Given the description of an element on the screen output the (x, y) to click on. 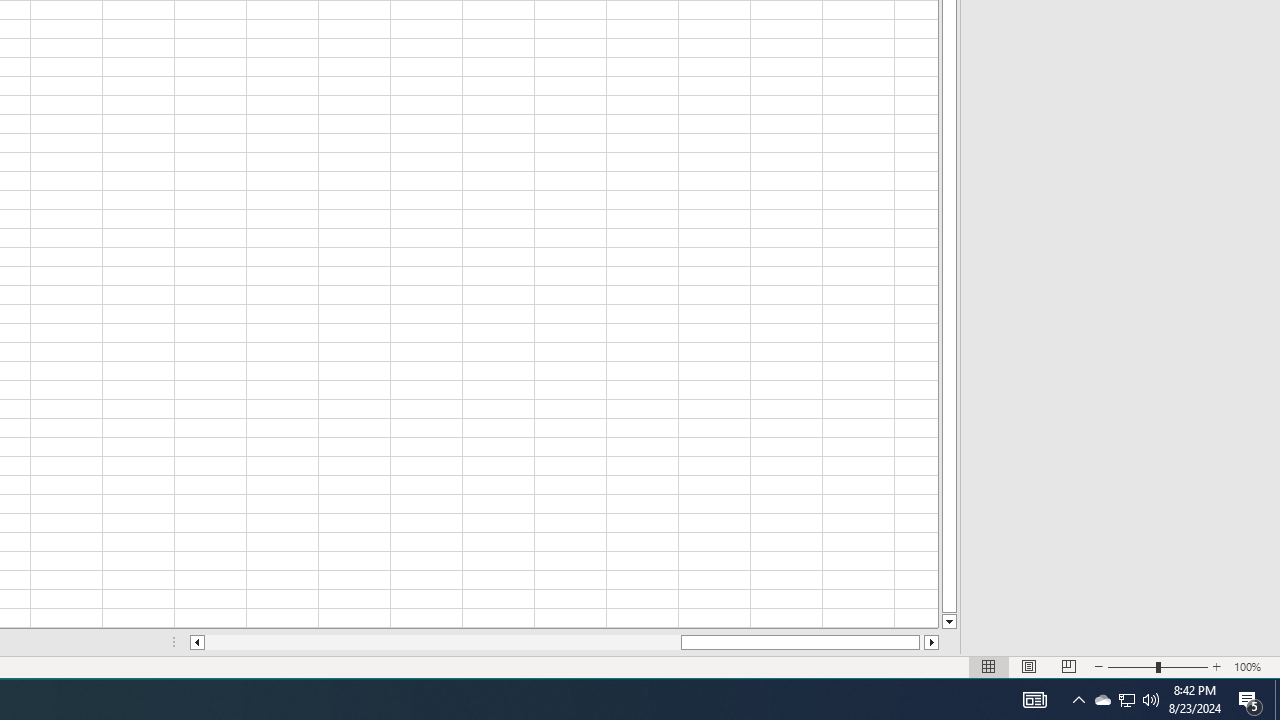
AutomationID: 4105 (1034, 699)
Show desktop (1277, 699)
Notification Chevron (1078, 699)
User Promoted Notification Area (1126, 699)
Action Center, 5 new notifications (1250, 699)
